Given the description of an element on the screen output the (x, y) to click on. 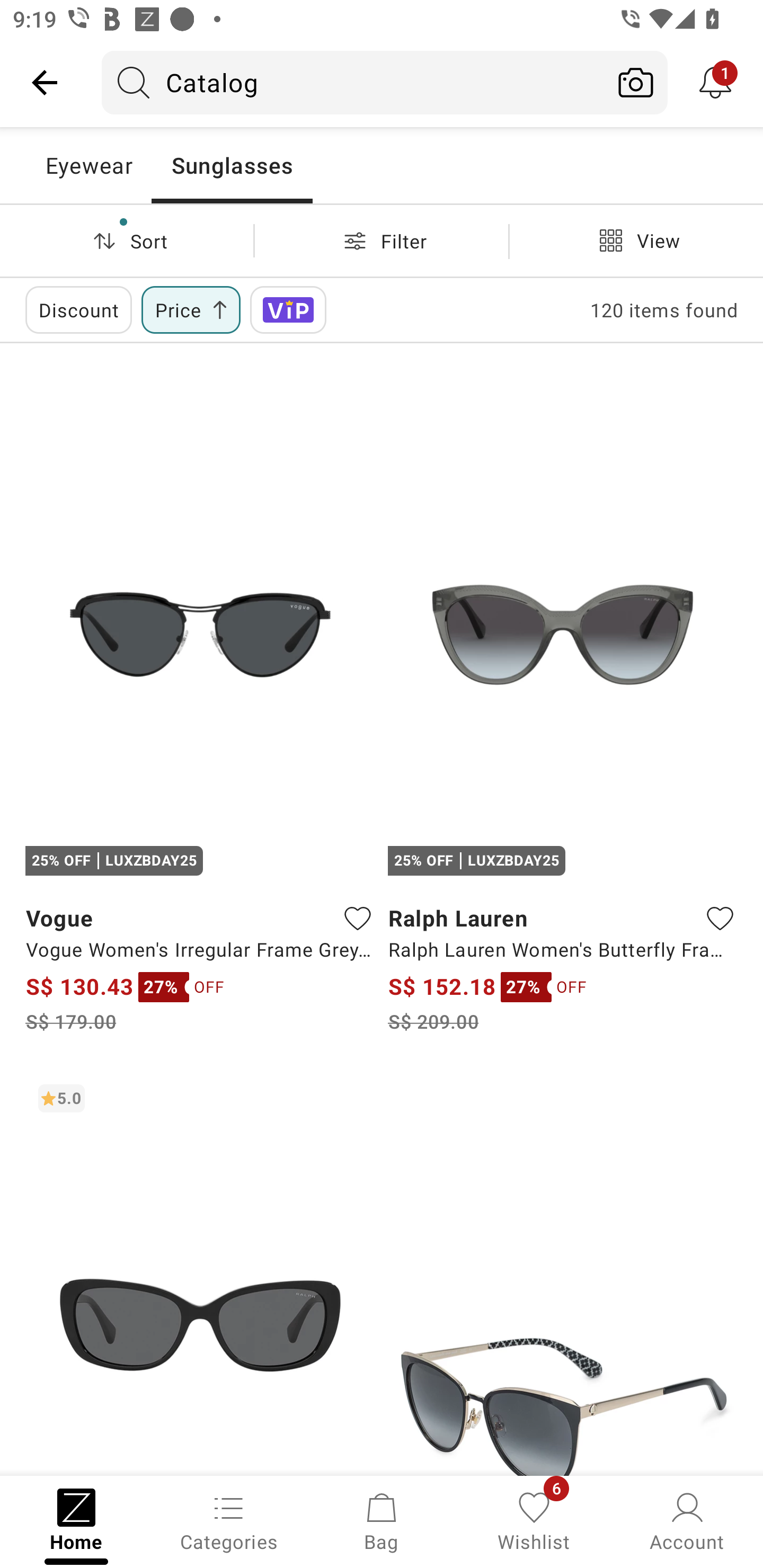
Navigate up (44, 82)
Catalog (352, 82)
Eyewear (88, 165)
Sort (126, 240)
Filter (381, 240)
View (636, 240)
Discount (78, 309)
Price (190, 309)
5.0 (200, 1272)
Categories (228, 1519)
Bag (381, 1519)
Wishlist, 6 new notifications Wishlist (533, 1519)
Account (686, 1519)
